Given the description of an element on the screen output the (x, y) to click on. 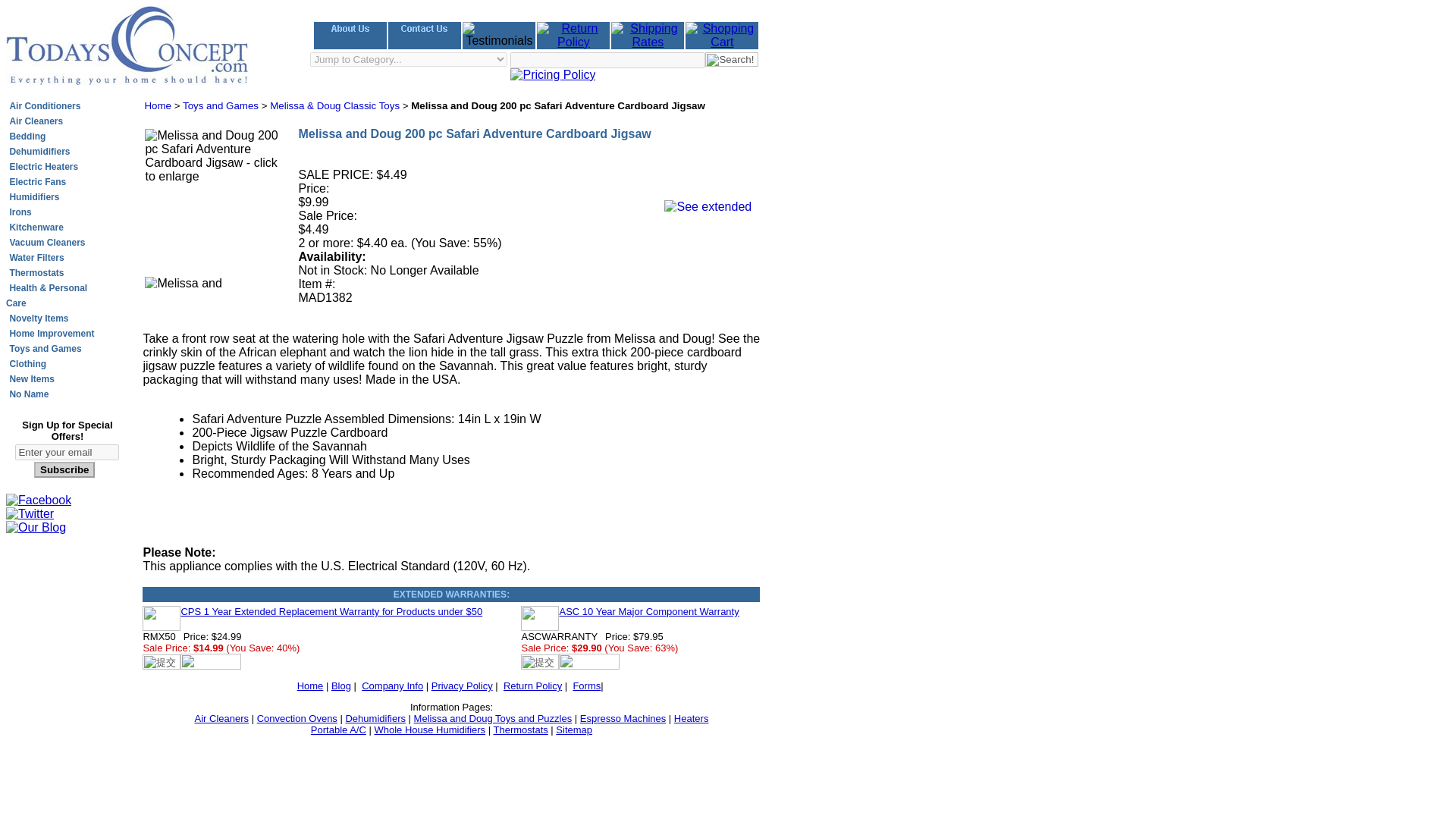
Enter your email (66, 452)
Humidifiers (33, 196)
Kitchenware (35, 226)
Dehumidifiers (38, 151)
Subscribe (63, 469)
ASC 10 Year Major Component Warranty (648, 611)
Subscribe (63, 469)
Home Improvement (51, 333)
Thermostats (36, 272)
New Items (30, 378)
Toys and Games (221, 105)
Water Filters (36, 257)
Electric Heaters (43, 166)
No Name (28, 394)
Novelty Items (38, 317)
